Given the description of an element on the screen output the (x, y) to click on. 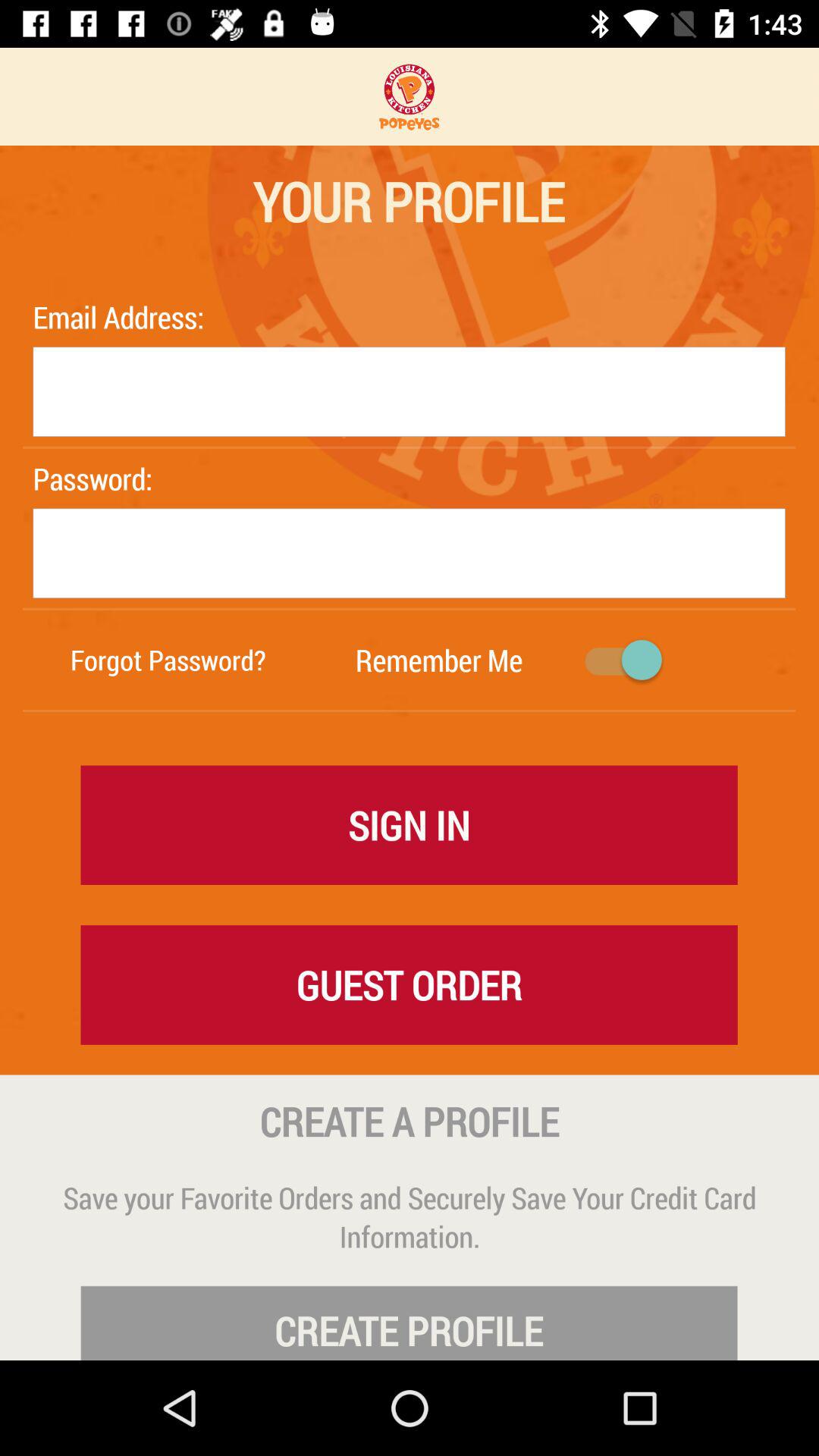
turn on forgot password? item (167, 659)
